Given the description of an element on the screen output the (x, y) to click on. 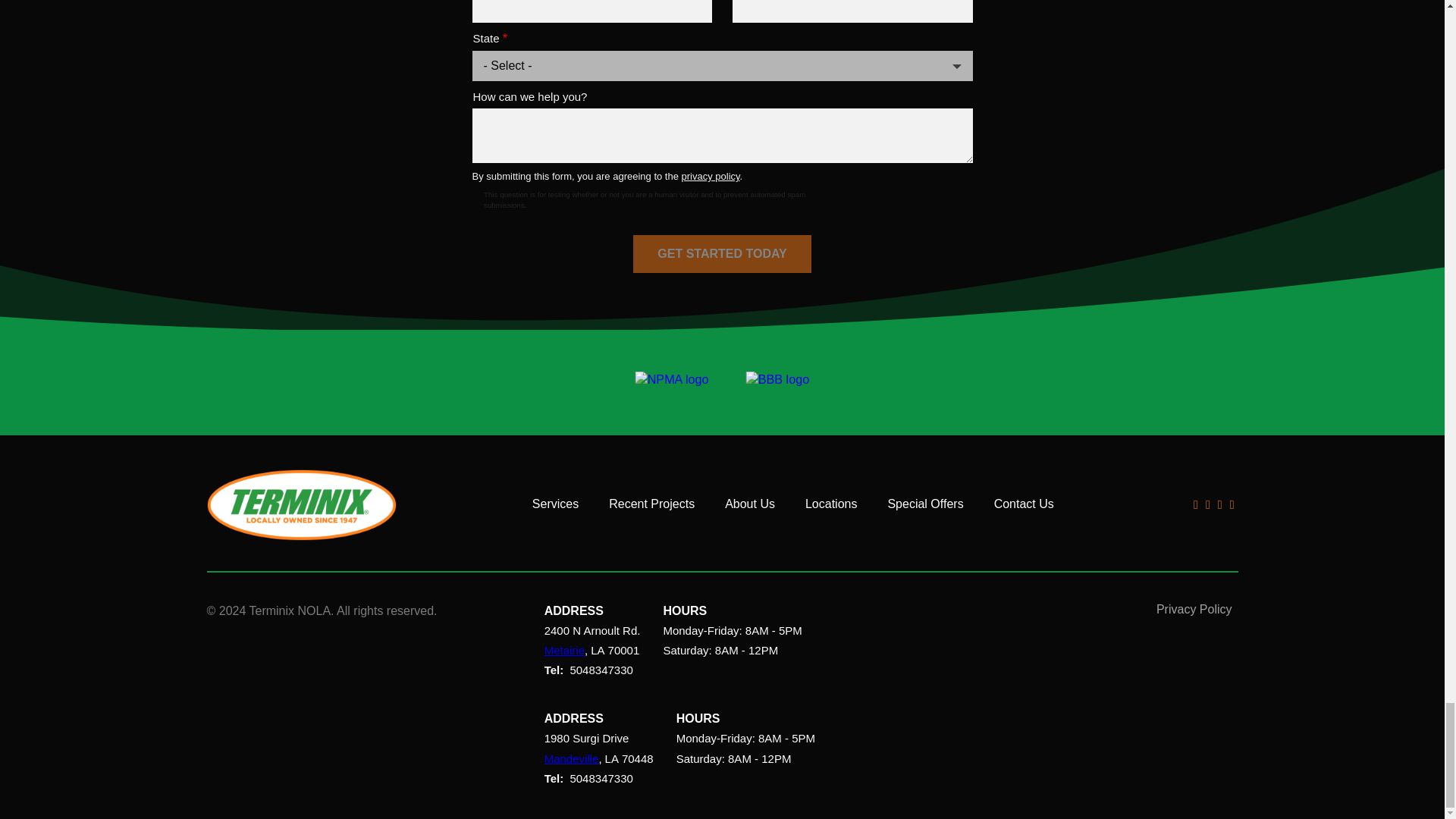
Contact Us (1024, 504)
About Us (749, 504)
Privacy Policy (1193, 609)
Services (555, 504)
Recent Projects (651, 504)
Special Offers (924, 504)
Locations (831, 504)
Get Started Today (721, 253)
